Given the description of an element on the screen output the (x, y) to click on. 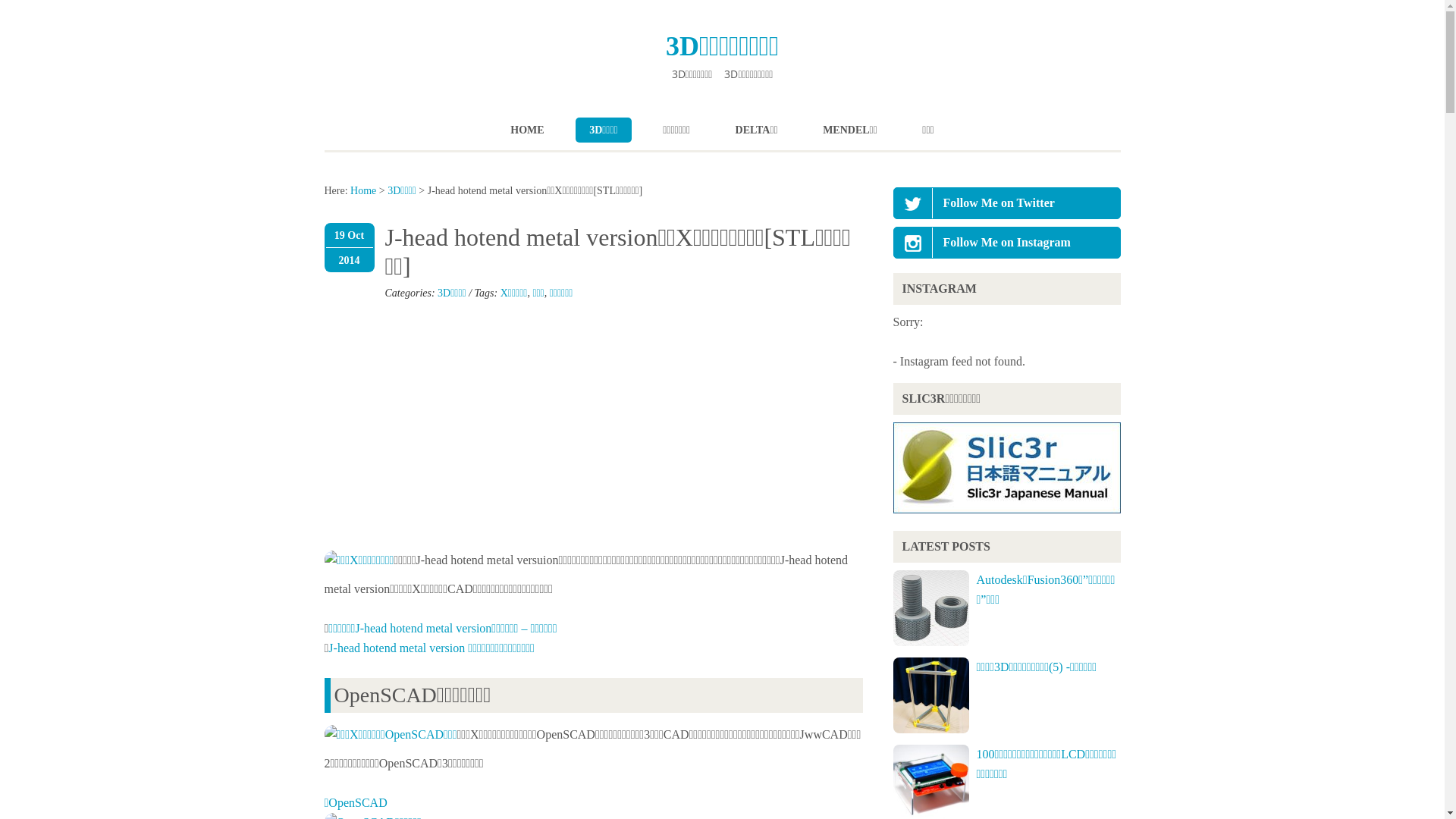
HOME Element type: text (526, 129)
Follow Me on Twitter Element type: hover (911, 203)
Home Element type: text (363, 190)
Follow Me on Instagram Element type: hover (911, 243)
Advertisement Element type: hover (592, 430)
